Given the description of an element on the screen output the (x, y) to click on. 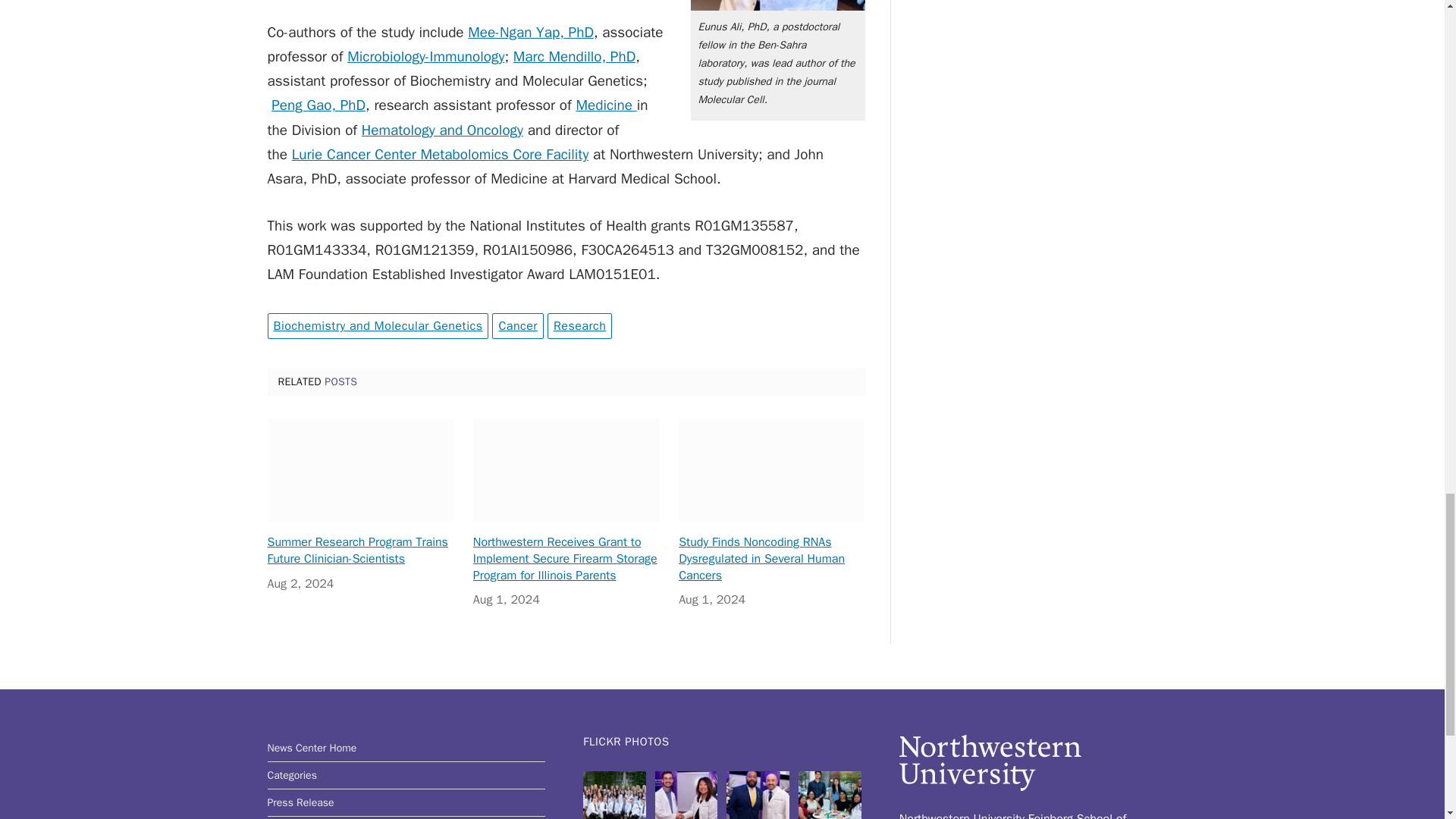
Summer Research Program Trains Future Clinician-Scientists (359, 469)
